Given the description of an element on the screen output the (x, y) to click on. 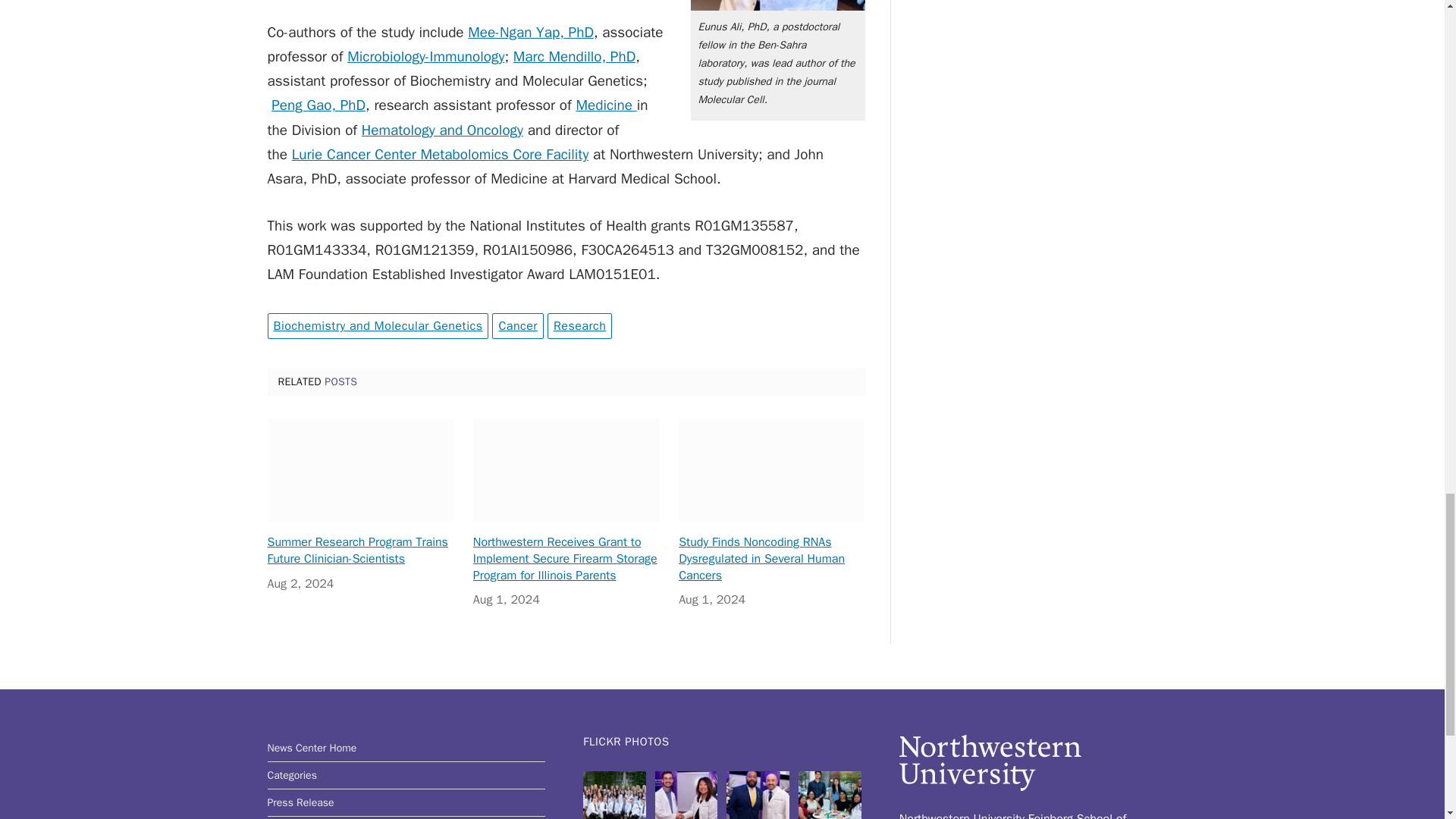
Summer Research Program Trains Future Clinician-Scientists (359, 469)
